Given the description of an element on the screen output the (x, y) to click on. 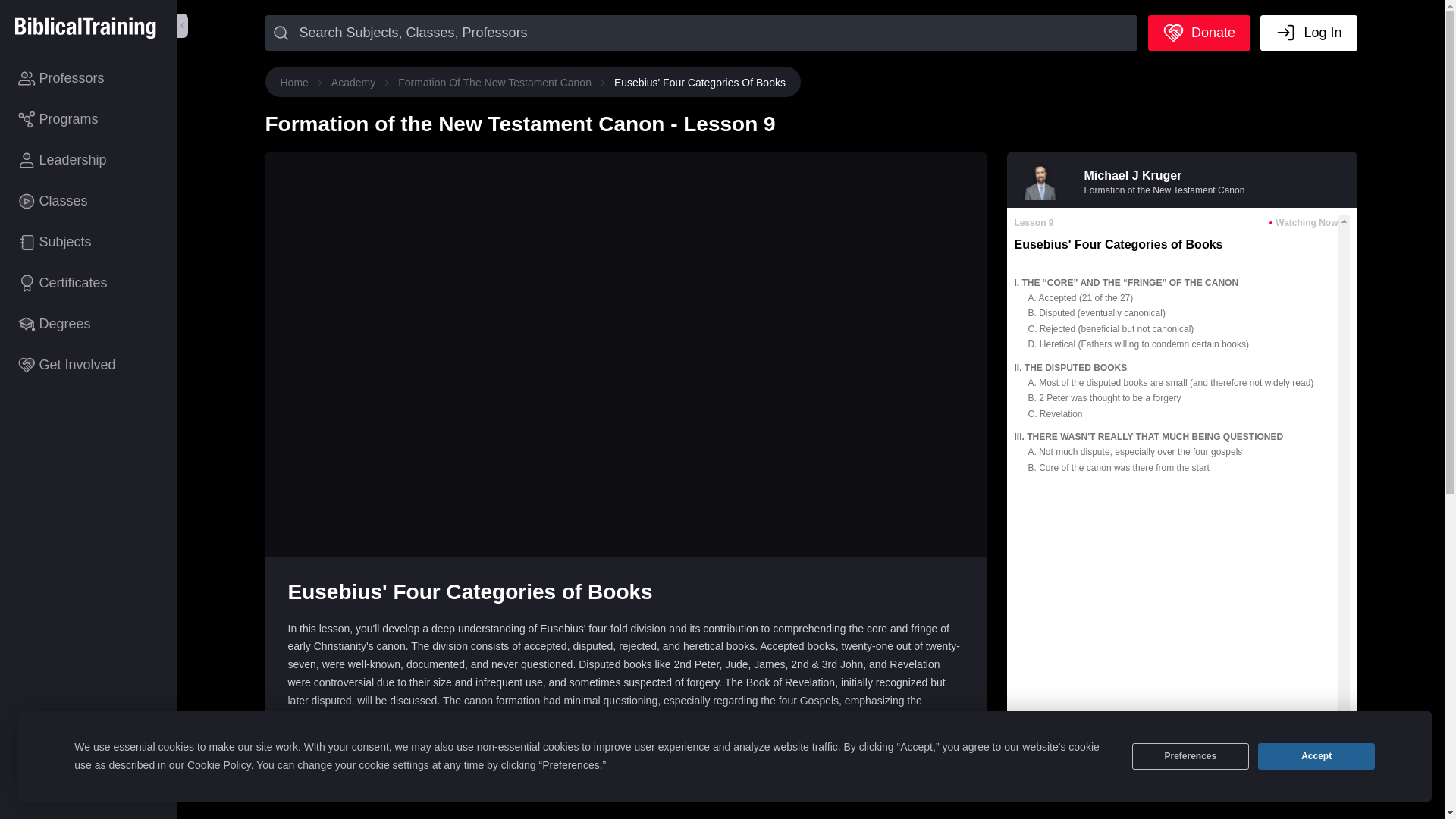
Degrees (88, 323)
Subjects (88, 241)
Home (298, 83)
Programs (88, 118)
Eusebius' Four Categories Of Books (700, 83)
Get Involved (88, 363)
Academy (356, 83)
Donate (1199, 32)
Log In (1308, 32)
Michael J Kruger (1133, 174)
Log In (1308, 32)
Back to Home (84, 28)
Classes (88, 200)
Programs (88, 118)
Leadership (88, 159)
